Given the description of an element on the screen output the (x, y) to click on. 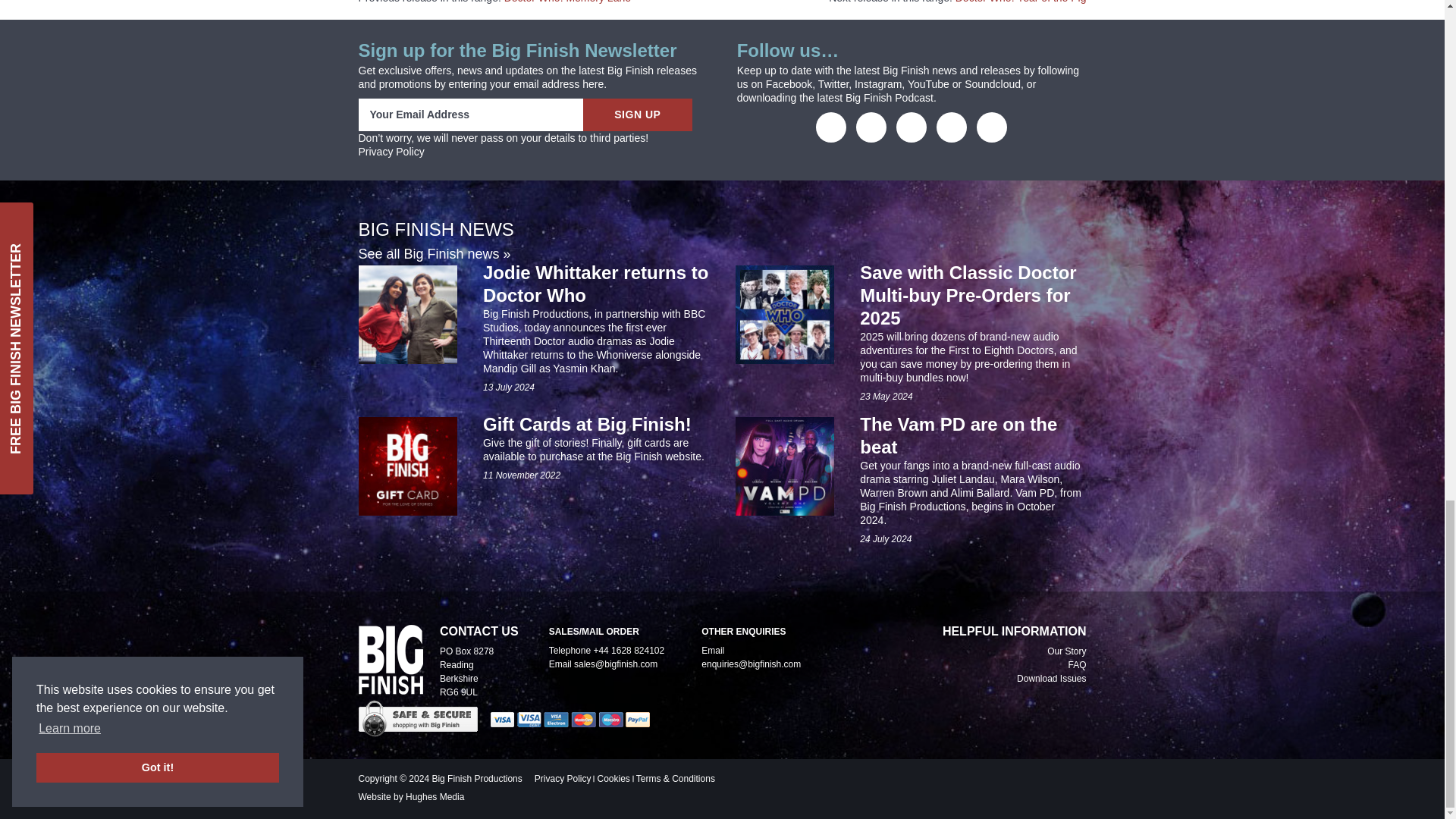
Sign Up (637, 114)
